Given the description of an element on the screen output the (x, y) to click on. 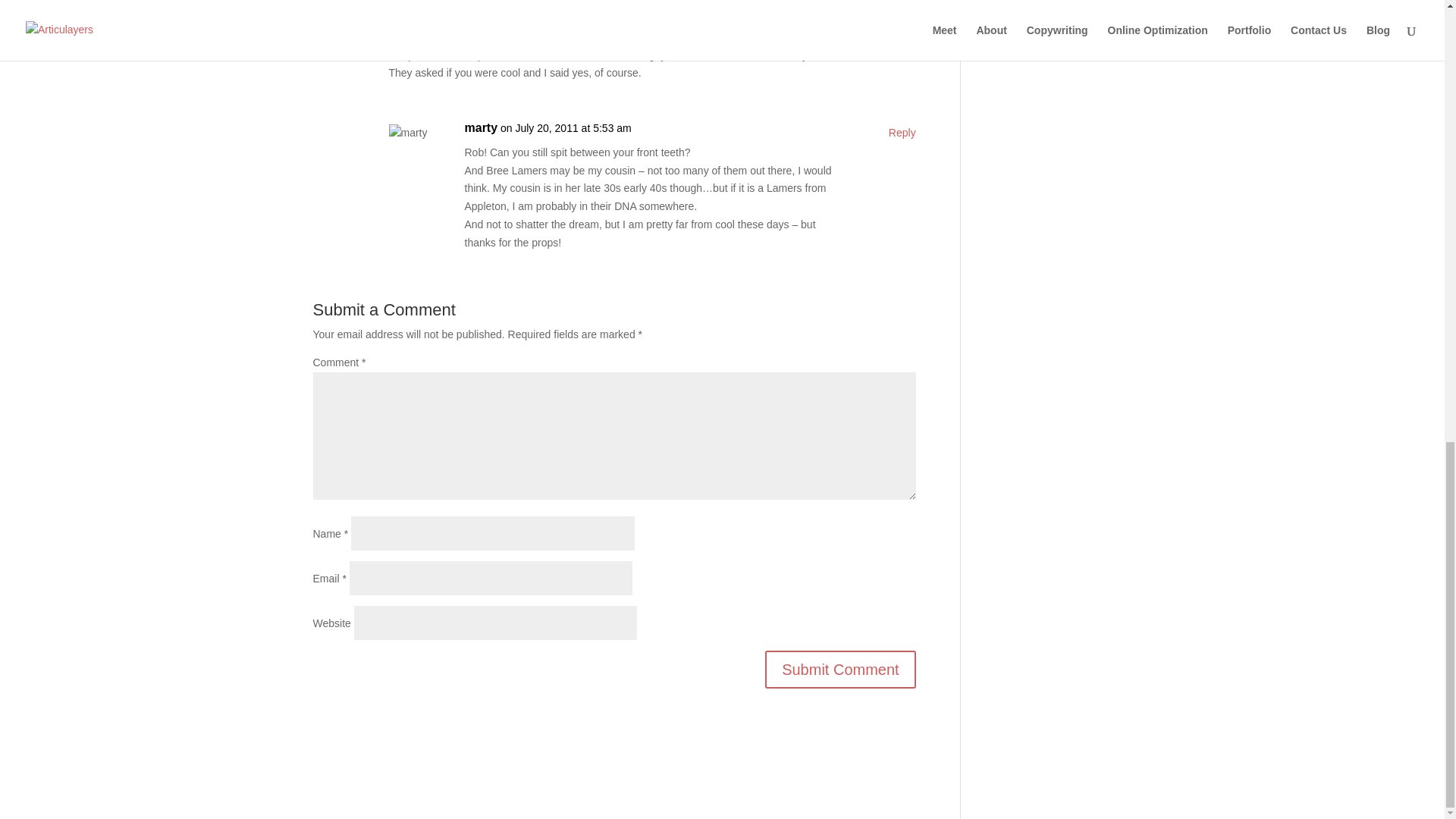
marty (480, 127)
Submit Comment (840, 669)
Submit Comment (840, 669)
Reply (901, 133)
Reply (901, 4)
